Given the description of an element on the screen output the (x, y) to click on. 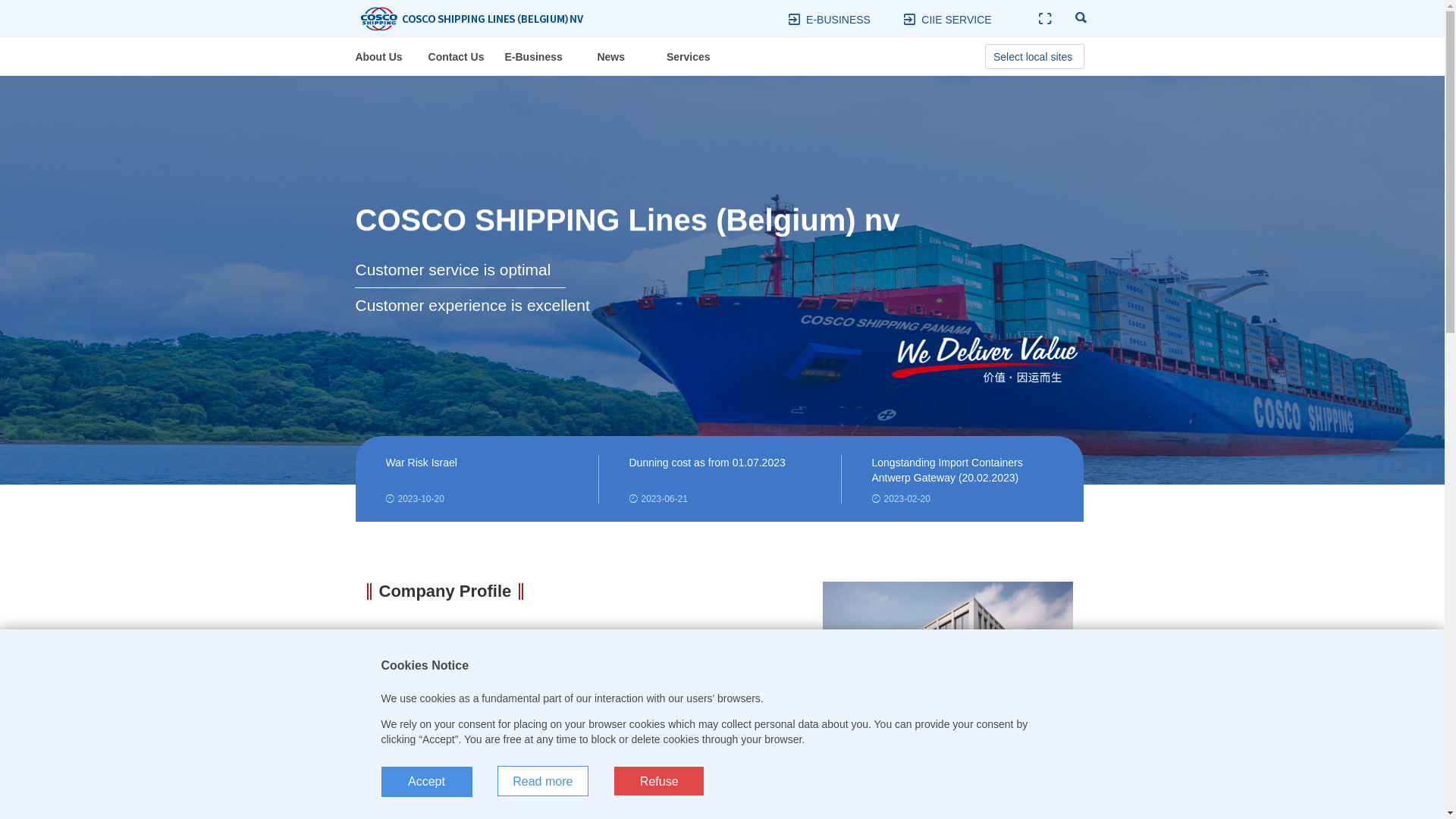
War Risk Israel Element type: text (476, 470)
Longstanding Import Containers Antwerp Gateway (20.02.2023) Element type: text (963, 470)
Dunning cost as from 01.07.2023 Element type: text (720, 470)
CIIE SERVICE Element type: text (956, 19)
E-BUSINESS Element type: text (838, 19)
